Given the description of an element on the screen output the (x, y) to click on. 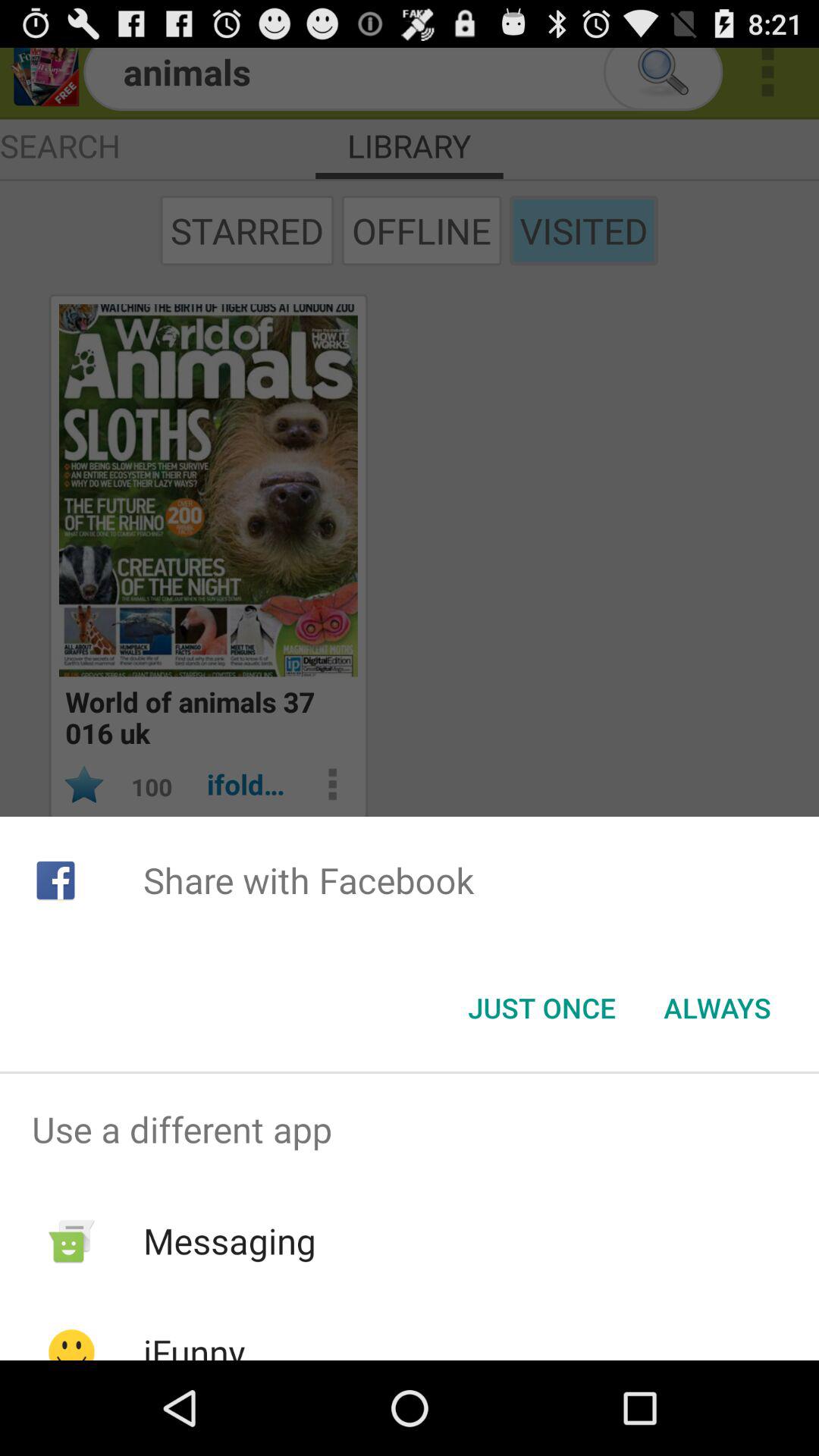
turn off item above ifunny app (229, 1240)
